Given the description of an element on the screen output the (x, y) to click on. 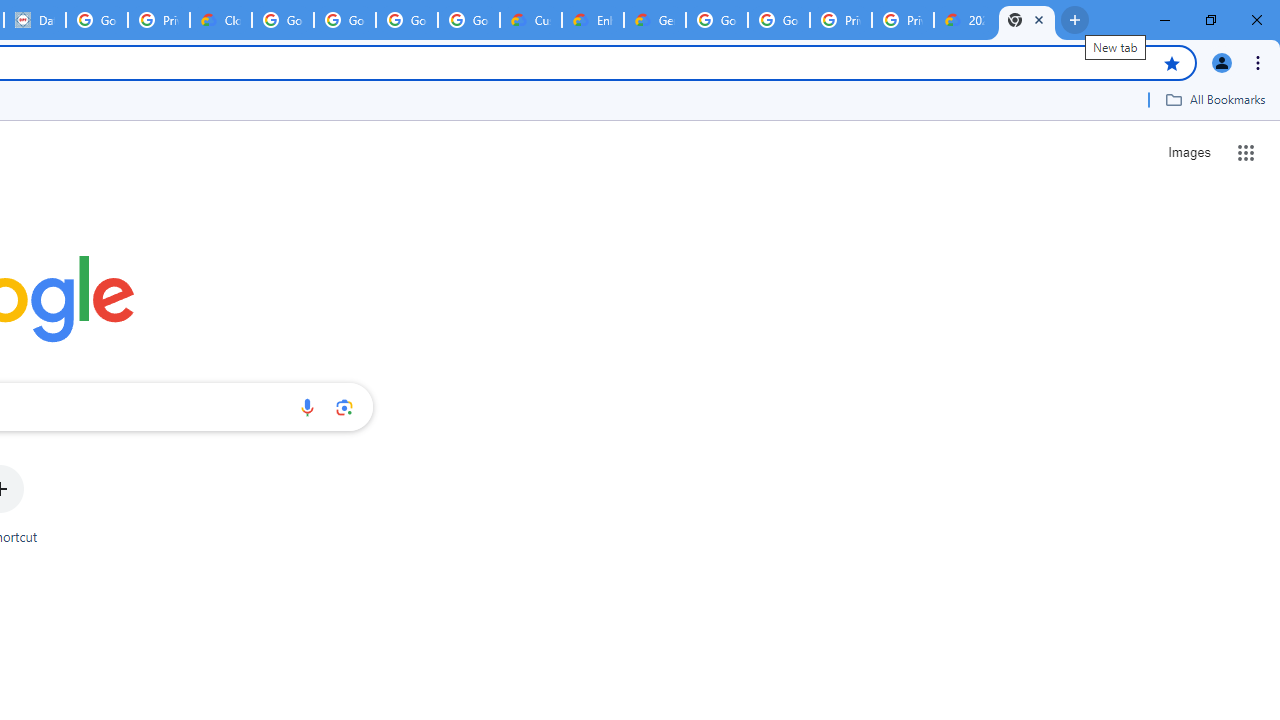
Cloud Data Processing Addendum | Google Cloud (220, 20)
Google Cloud Platform (716, 20)
Enhanced Support | Google Cloud (592, 20)
Google Cloud Platform (778, 20)
Customer Care | Google Cloud (530, 20)
Gemini for Business and Developers | Google Cloud (654, 20)
